Given the description of an element on the screen output the (x, y) to click on. 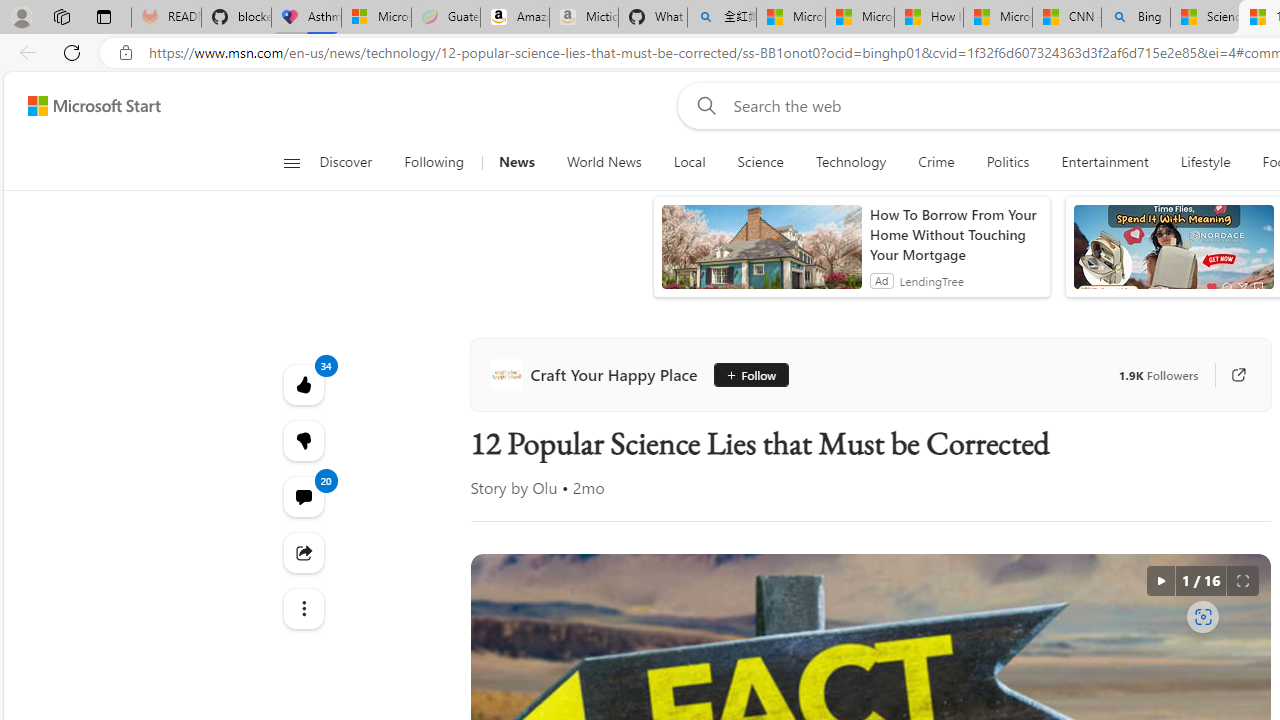
Class: button-glyph (290, 162)
34 Like (302, 384)
Class: at-item (302, 609)
View comments 20 Comment (302, 496)
